Given the description of an element on the screen output the (x, y) to click on. 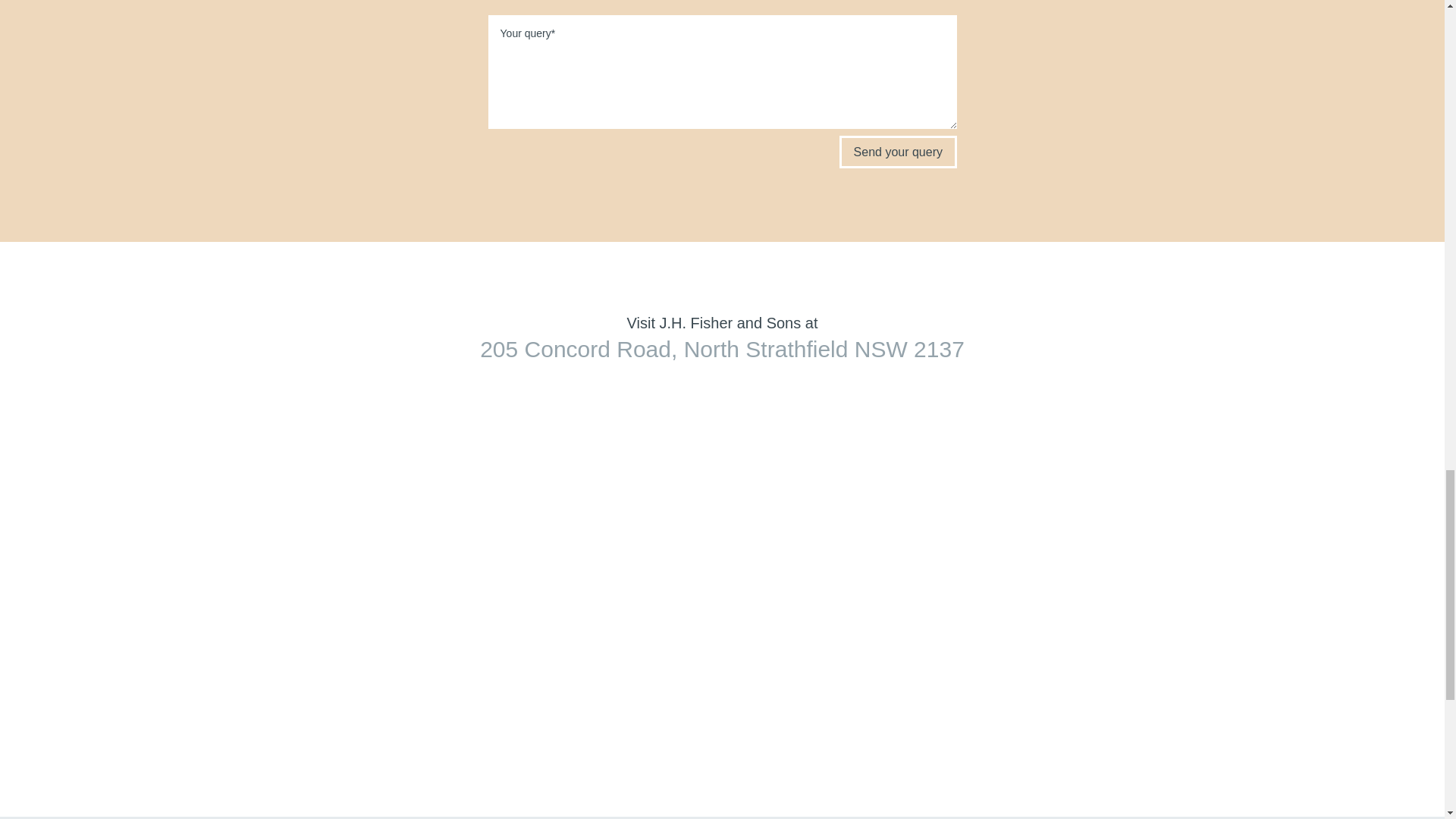
Send your query (898, 151)
